Given the description of an element on the screen output the (x, y) to click on. 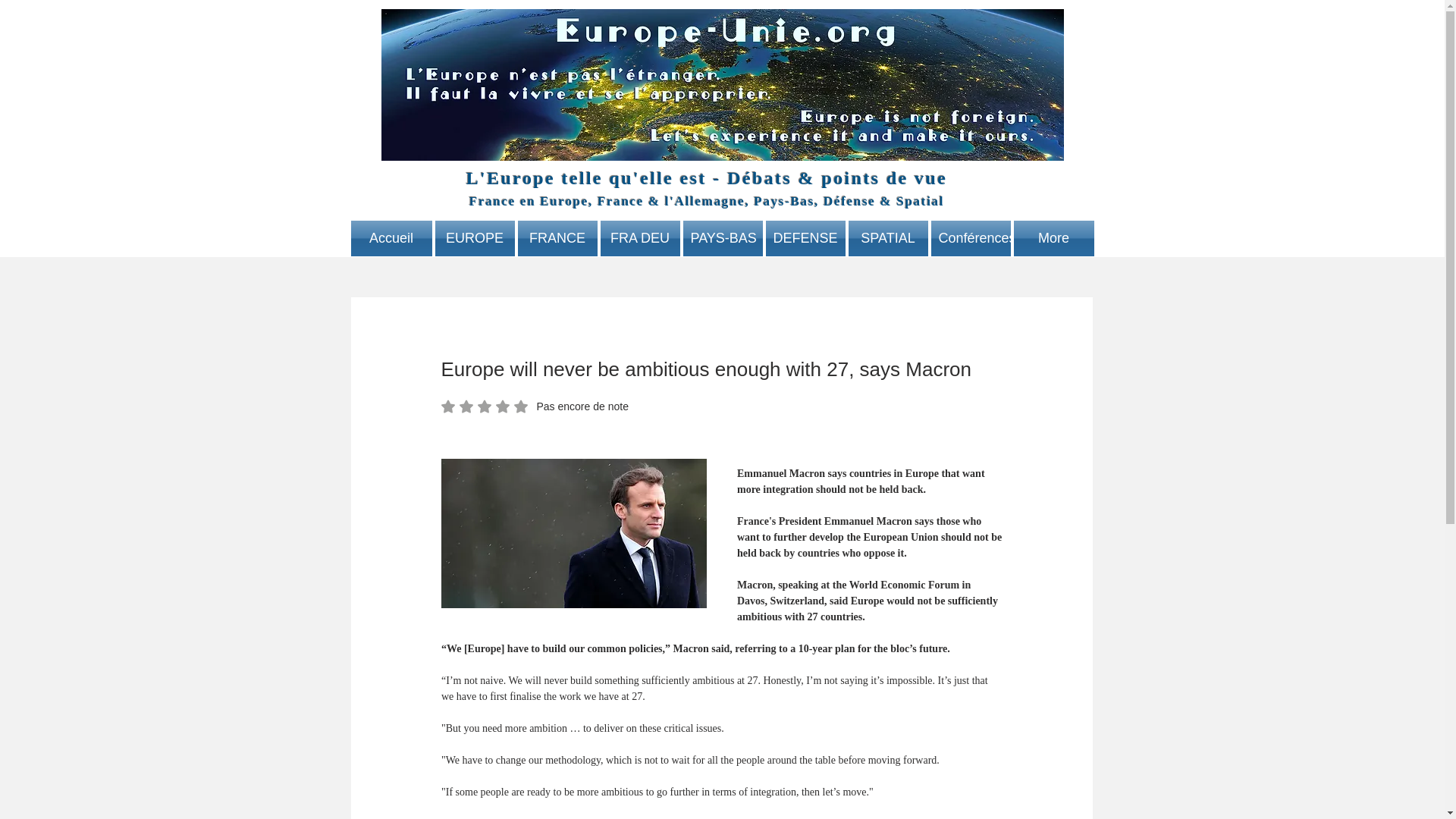
PAYS-BAS (721, 238)
SPATIAL (886, 238)
Accueil (391, 238)
FRANCE (556, 238)
EUROPE (474, 238)
FRA DEU (639, 238)
DEFENSE (805, 238)
